Given the description of an element on the screen output the (x, y) to click on. 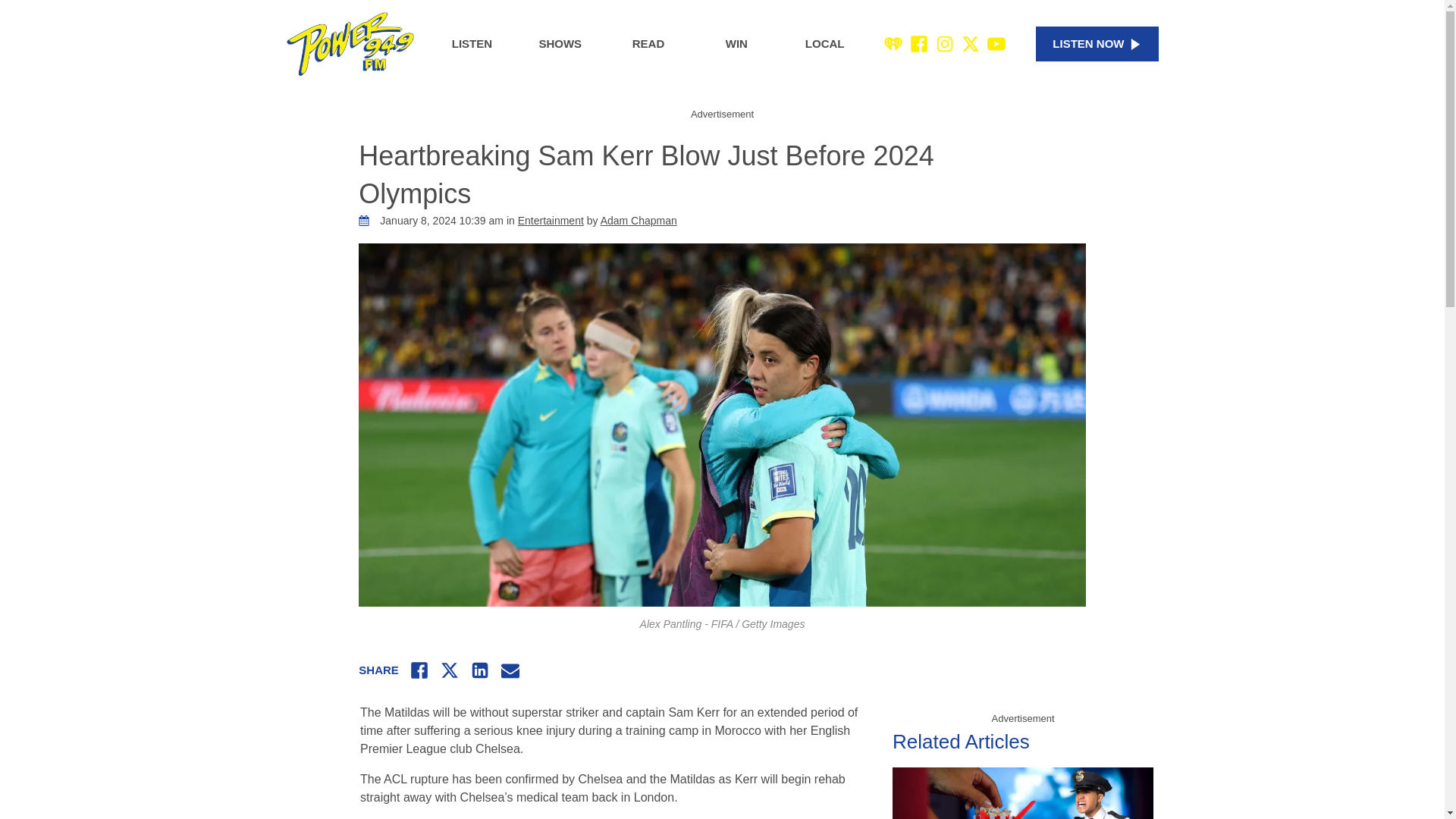
LISTEN (471, 43)
SHOWS (560, 43)
Instagram (944, 44)
Facebook (919, 44)
LISTEN NOW (1096, 44)
Posts by Adam Chapman (638, 220)
READ (648, 43)
WIN (736, 43)
LOCAL (824, 43)
iHeart (892, 44)
YouTube (996, 44)
